Given the description of an element on the screen output the (x, y) to click on. 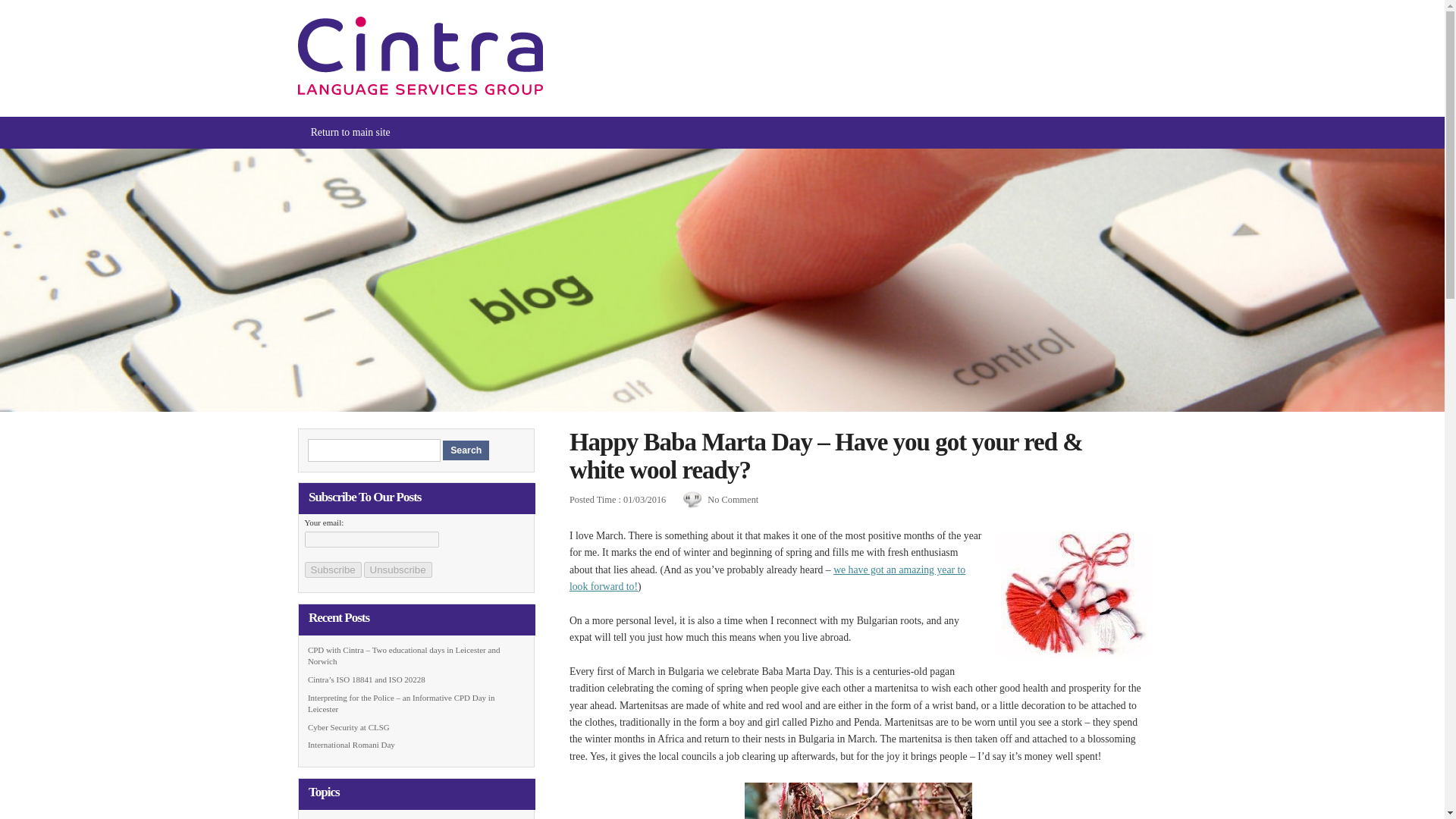
No Comment (732, 499)
Unsubscribe (398, 569)
Subscribe (332, 569)
Subscribe (332, 569)
Unsubscribe (398, 569)
Cintra Translation (419, 91)
Return to main site (350, 132)
Cyber Security at CLSG (348, 727)
Search (465, 450)
International Romani Day (350, 744)
we have got an amazing year to look forward to! (767, 578)
Search (465, 450)
